Given the description of an element on the screen output the (x, y) to click on. 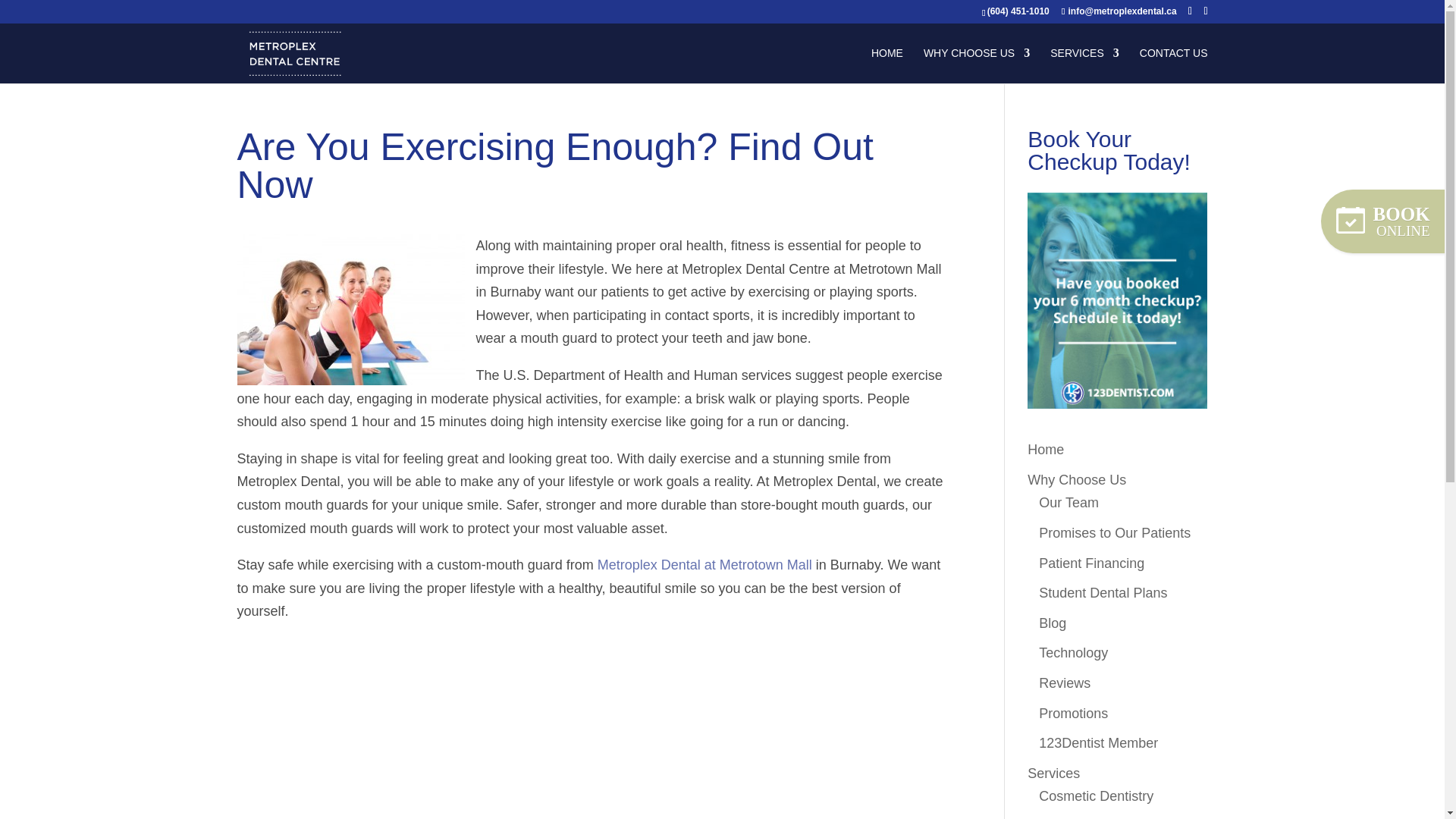
Our Team (1069, 502)
HOME (886, 65)
CONTACT US (1174, 65)
Cosmetic Dentistry (1096, 795)
Patient Financing (1091, 563)
Promotions (1073, 713)
Technology (1073, 652)
123Dentist Member (1098, 743)
Promises to Our Patients (1115, 532)
Metroplex Dental at Metrotown Mall (704, 564)
Home (1045, 449)
Why Choose Us (1076, 479)
SERVICES (1084, 65)
Blog (1052, 622)
Services (1053, 773)
